Given the description of an element on the screen output the (x, y) to click on. 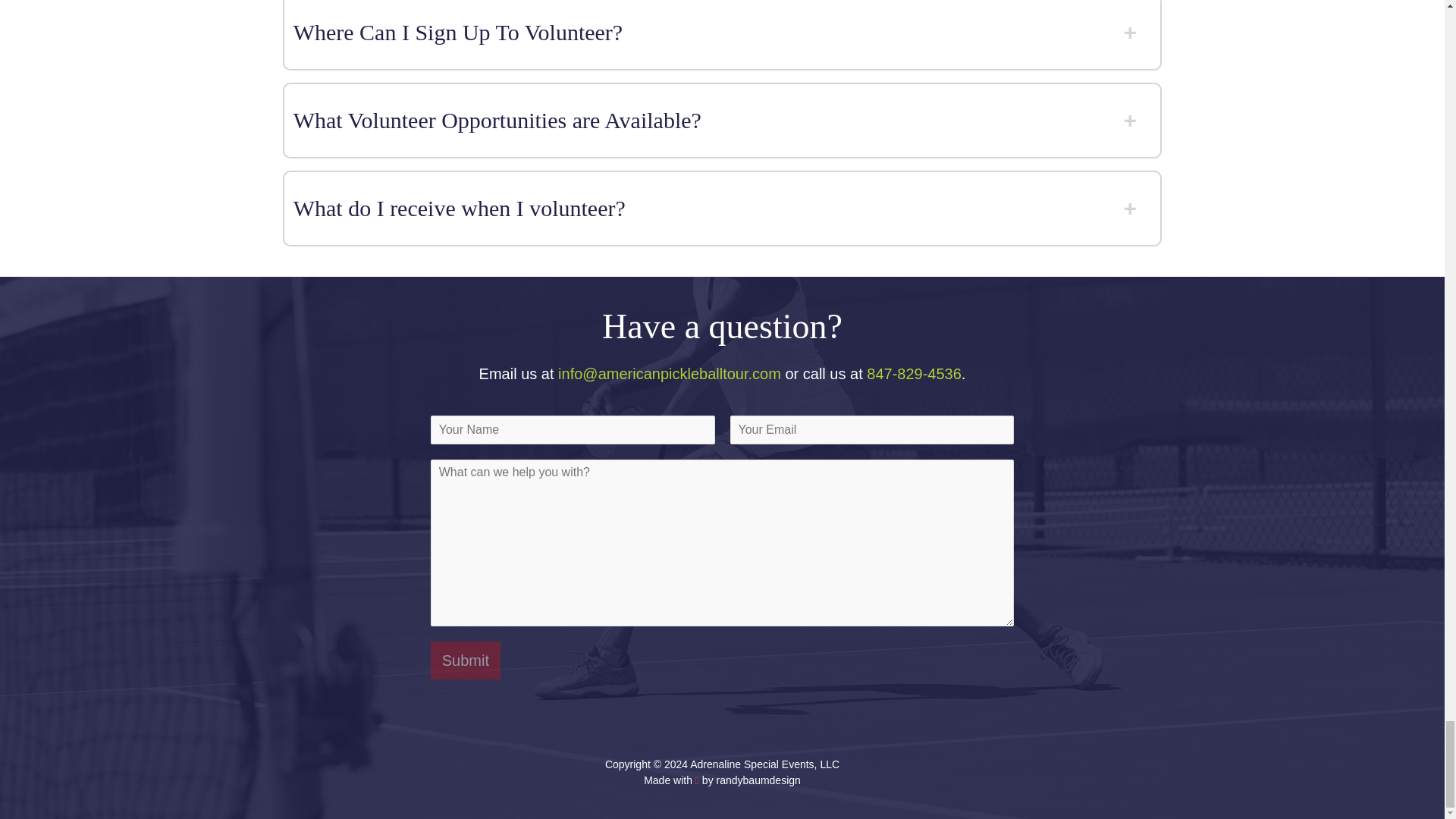
Made with by randybaumdesign (721, 779)
Submit (465, 660)
Adrenaline Special Events, LLC (765, 764)
847-829-4536 (913, 373)
